Given the description of an element on the screen output the (x, y) to click on. 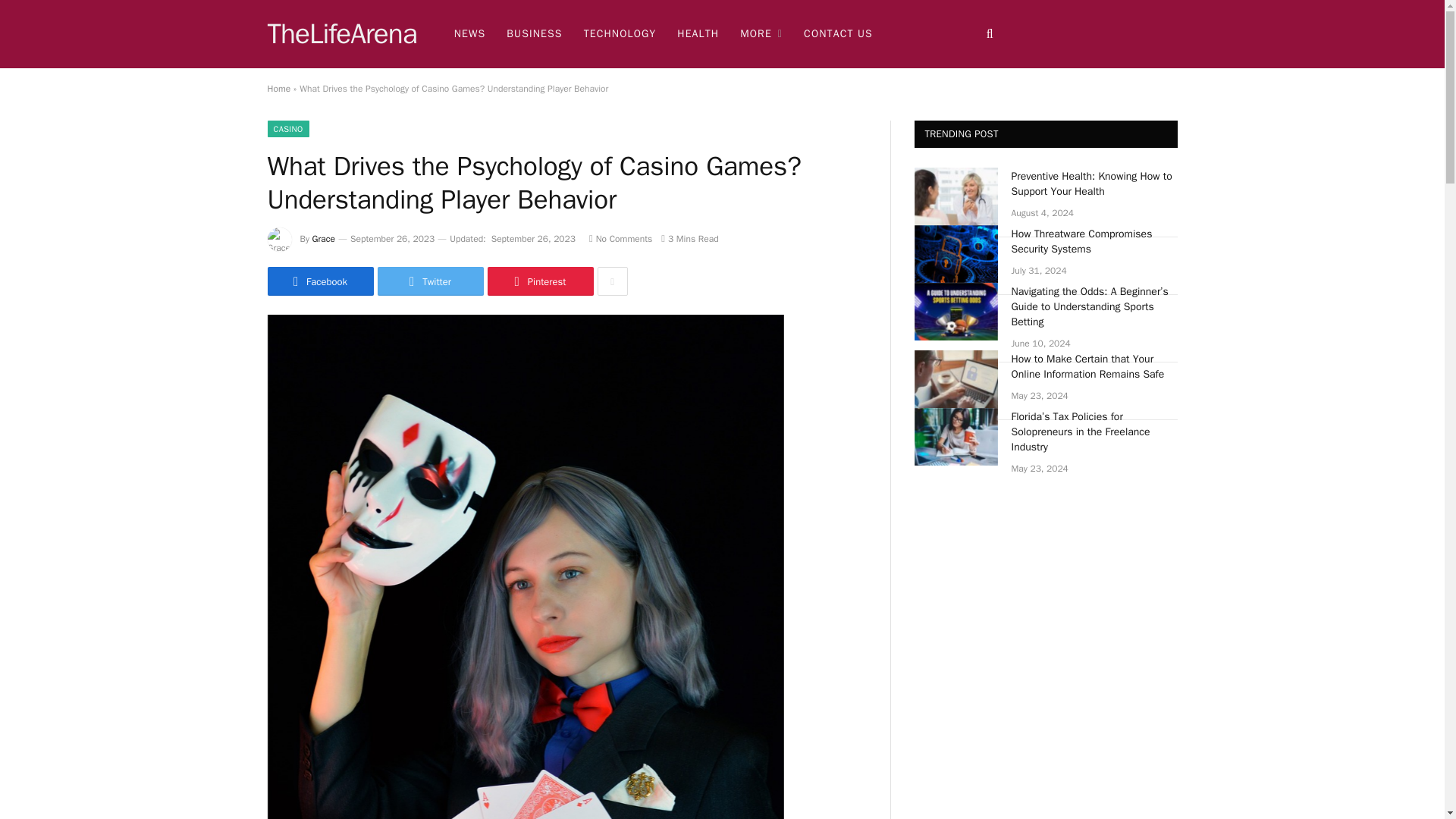
TECHNOLOGY (619, 33)
Share on Pinterest (539, 280)
Show More Social Sharing (611, 280)
MORE (761, 33)
HEALTH (697, 33)
TheLifeArena (341, 34)
Posts by Grace (323, 238)
Share on Facebook (319, 280)
CONTACT US (838, 33)
BUSINESS (534, 33)
